Given the description of an element on the screen output the (x, y) to click on. 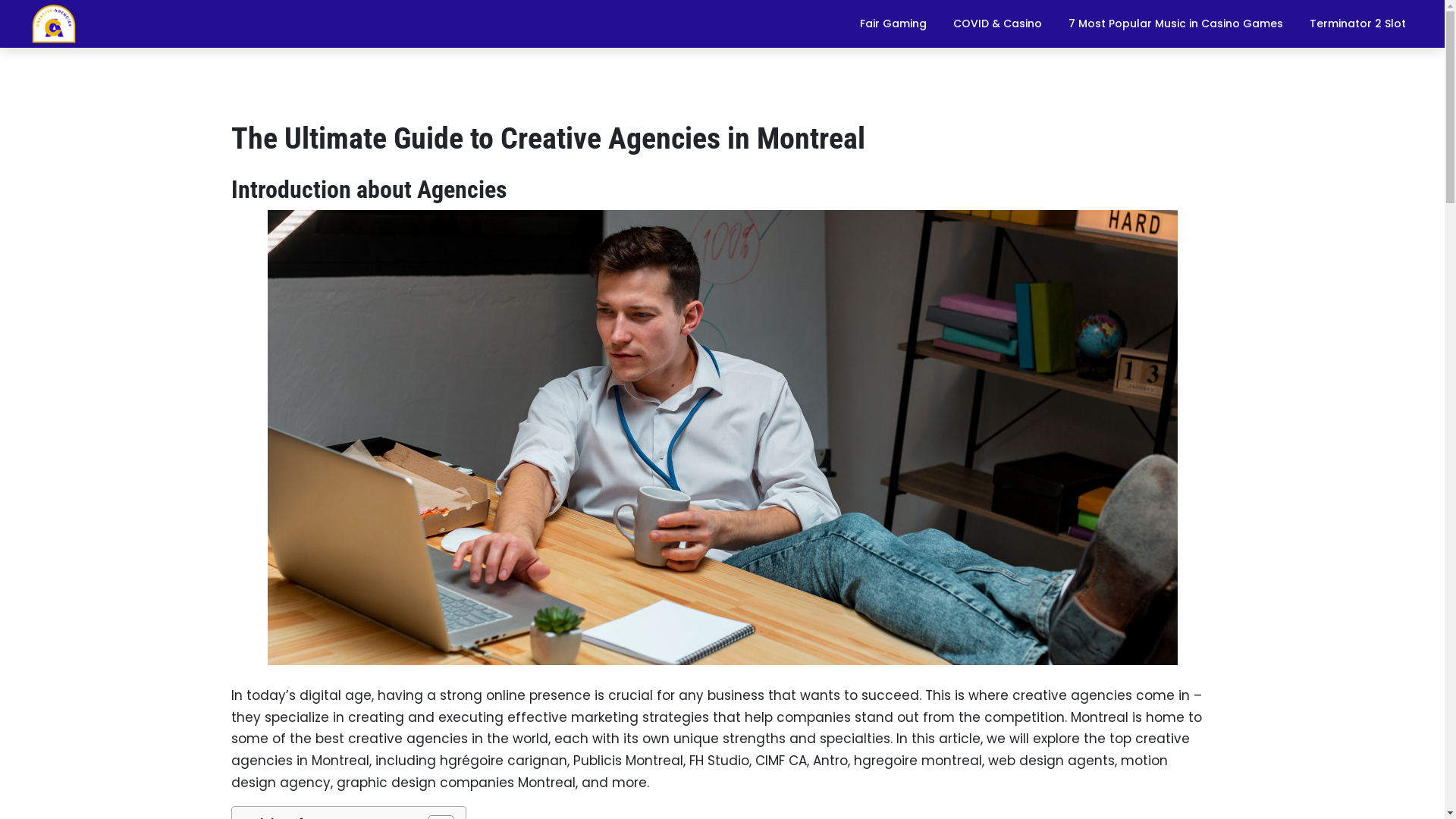
Fair Gaming Element type: text (893, 23)
Terminator 2 Slot Element type: text (1357, 23)
7 Most Popular Music in Casino Games Element type: text (1175, 23)
COVID & Casino Element type: text (997, 23)
